Given the description of an element on the screen output the (x, y) to click on. 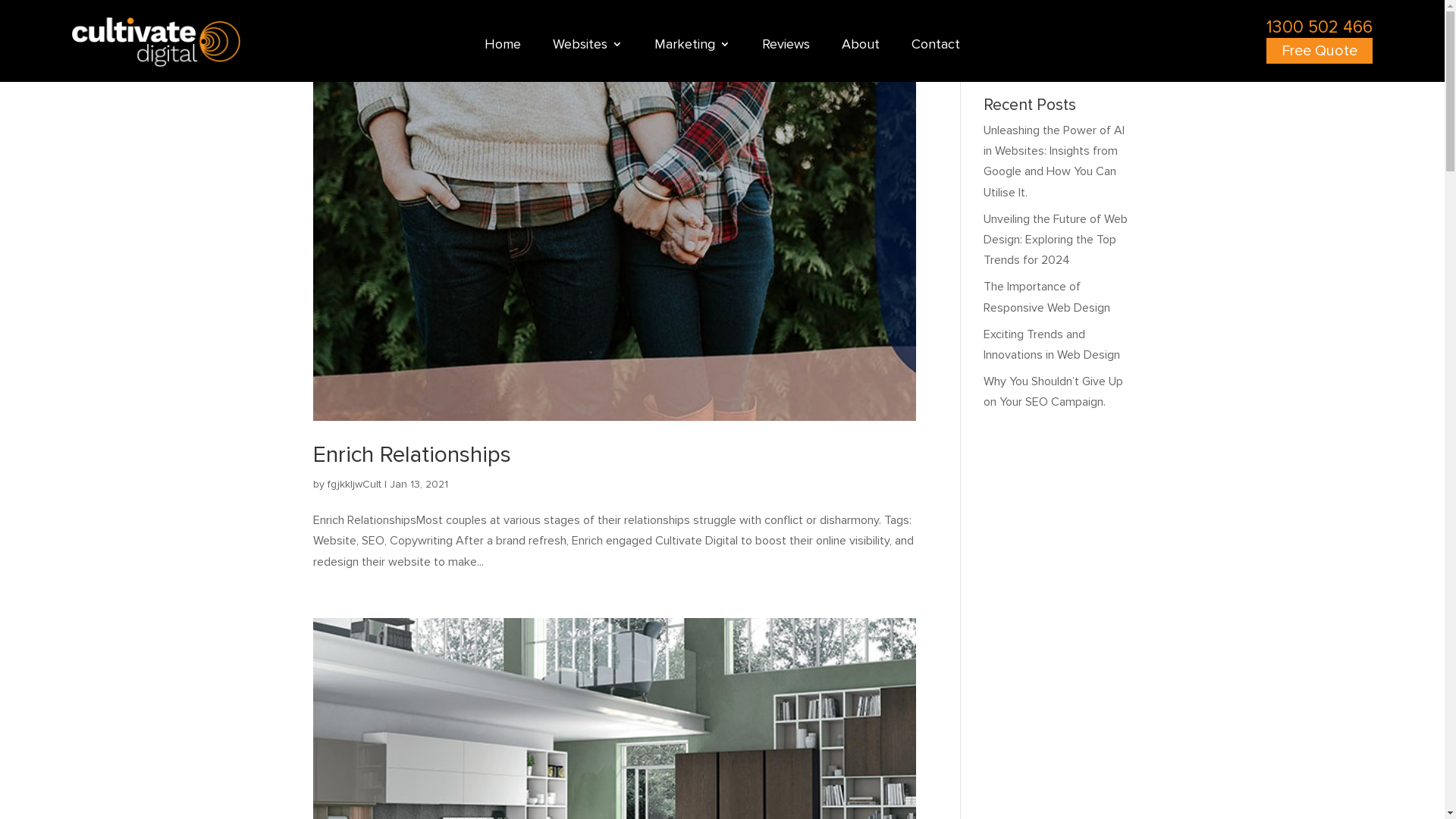
Reviews Element type: text (785, 46)
Exciting Trends and Innovations in Web Design Element type: text (1051, 344)
Home Element type: text (502, 46)
Search Element type: text (1106, 58)
Free Quote Element type: text (1319, 50)
1300 502 466 Element type: text (1319, 26)
About Element type: text (860, 46)
Contact Element type: text (935, 46)
Websites Element type: text (587, 46)
Enrich Relationships Element type: text (411, 454)
Marketing Element type: text (692, 46)
The Importance of Responsive Web Design Element type: text (1046, 296)
fgjkkljwCult Element type: text (354, 483)
Cultivate Digital Element type: hover (156, 41)
